Given the description of an element on the screen output the (x, y) to click on. 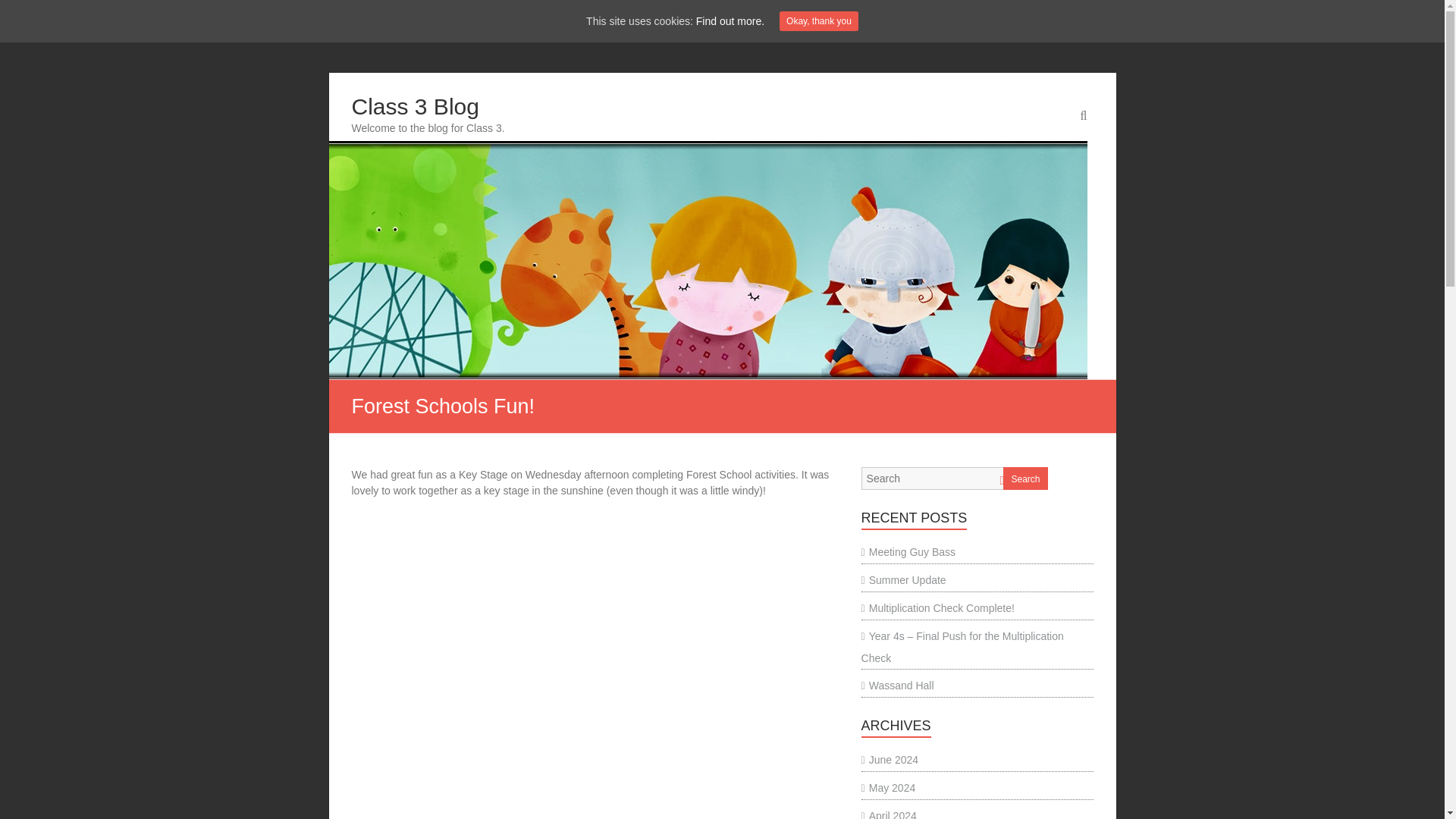
June 2024 (889, 759)
Meeting Guy Bass (908, 551)
April 2024 (889, 814)
Search (1024, 477)
Multiplication Check Complete! (937, 607)
Class 3 Blog (415, 106)
Wassand Hall (897, 685)
Class 3 Blog (415, 106)
May 2024 (888, 787)
Search (21, 11)
Summer Update (903, 580)
